Given the description of an element on the screen output the (x, y) to click on. 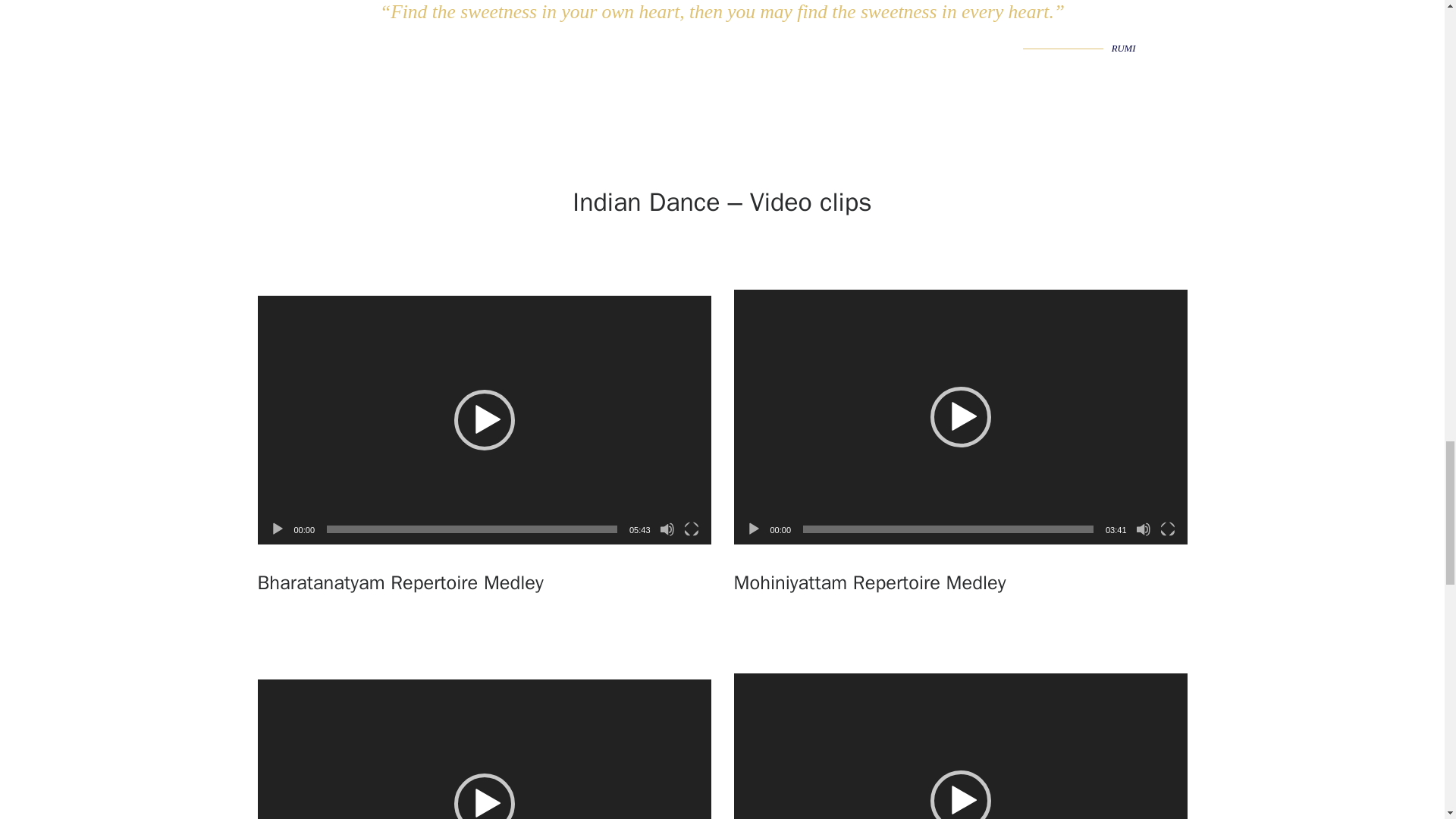
Play (753, 529)
Fullscreen (1167, 529)
Play (277, 529)
Mute (1143, 529)
Mute (667, 529)
Fullscreen (691, 529)
